Given the description of an element on the screen output the (x, y) to click on. 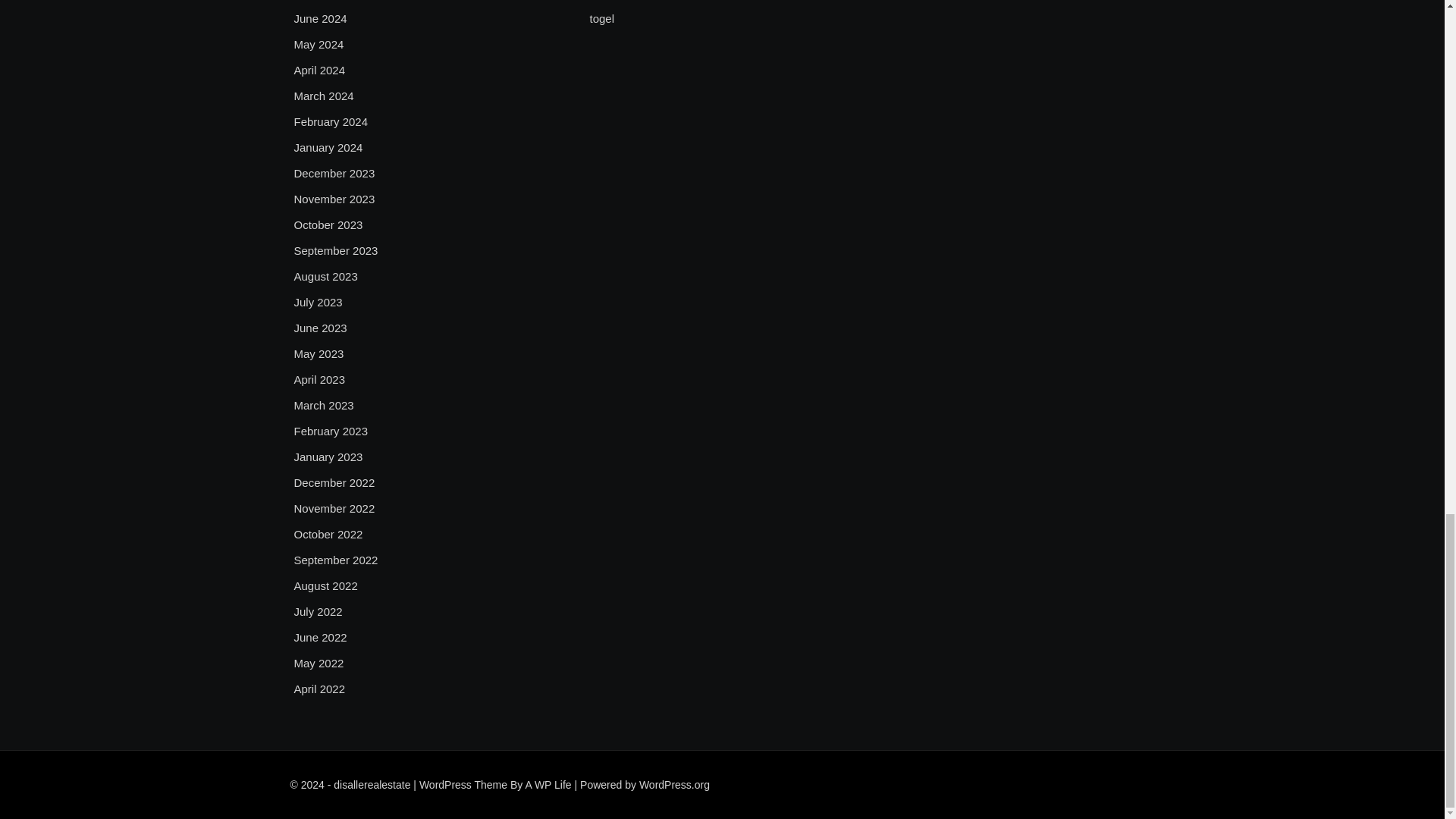
July 2024 (318, 1)
January 2024 (328, 147)
March 2024 (323, 95)
May 2024 (318, 45)
August 2022 (326, 586)
March 2023 (323, 405)
November 2023 (334, 199)
September 2022 (336, 560)
July 2022 (318, 611)
April 2023 (320, 380)
July 2023 (318, 302)
November 2022 (334, 508)
April 2024 (320, 70)
May 2023 (318, 353)
October 2023 (328, 225)
